Given the description of an element on the screen output the (x, y) to click on. 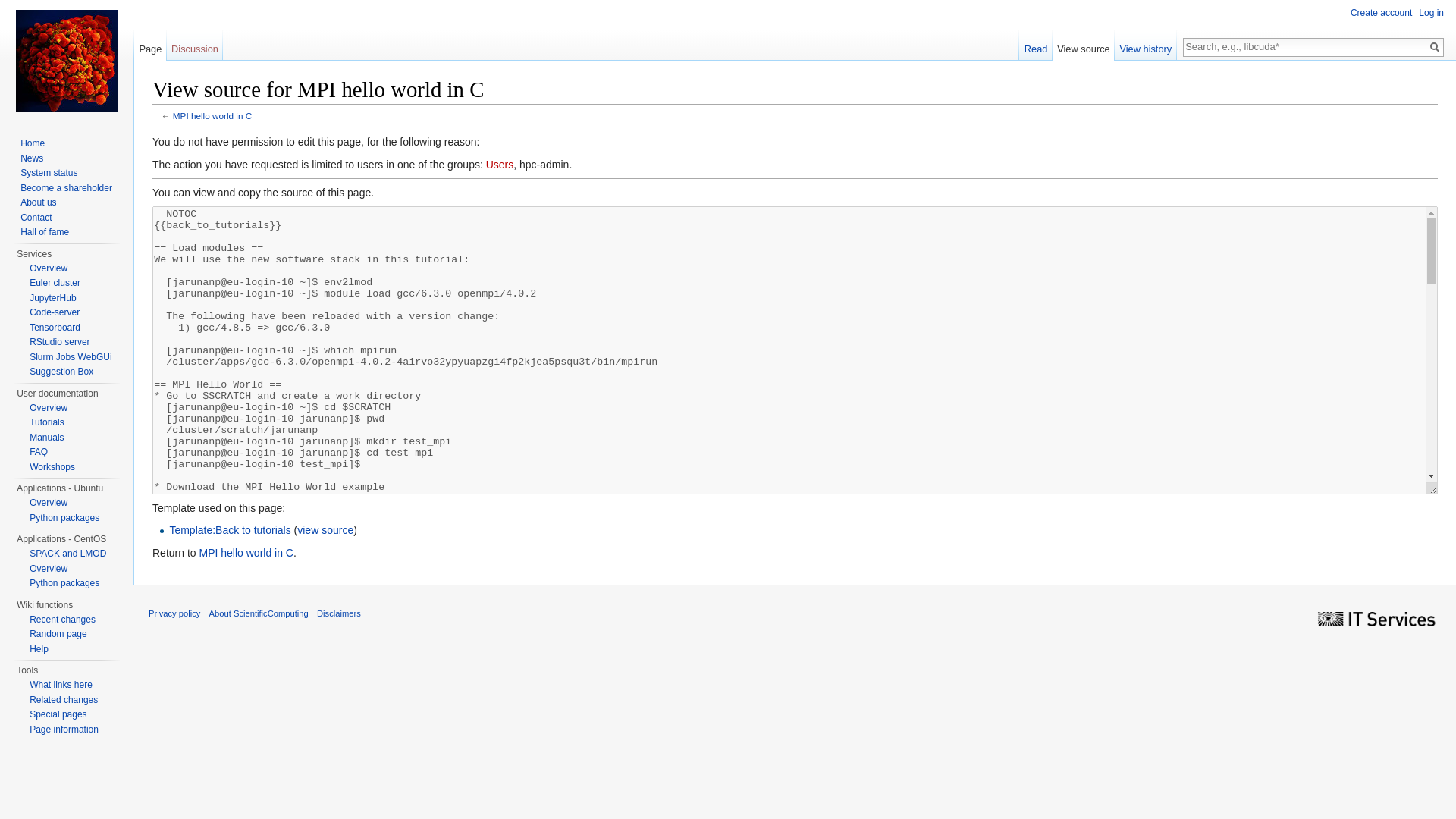
Manuals (46, 437)
MPI hello world in C (246, 552)
About us (38, 202)
MPI hello world in C (246, 552)
Go (1434, 46)
Become a shareholder (66, 186)
view source (325, 530)
Template:Back to tutorials (228, 530)
Template:Back to tutorials (228, 530)
Create account (1381, 12)
Tensorboard (54, 326)
Page (150, 45)
Overview (47, 407)
View source (1083, 45)
